Given the description of an element on the screen output the (x, y) to click on. 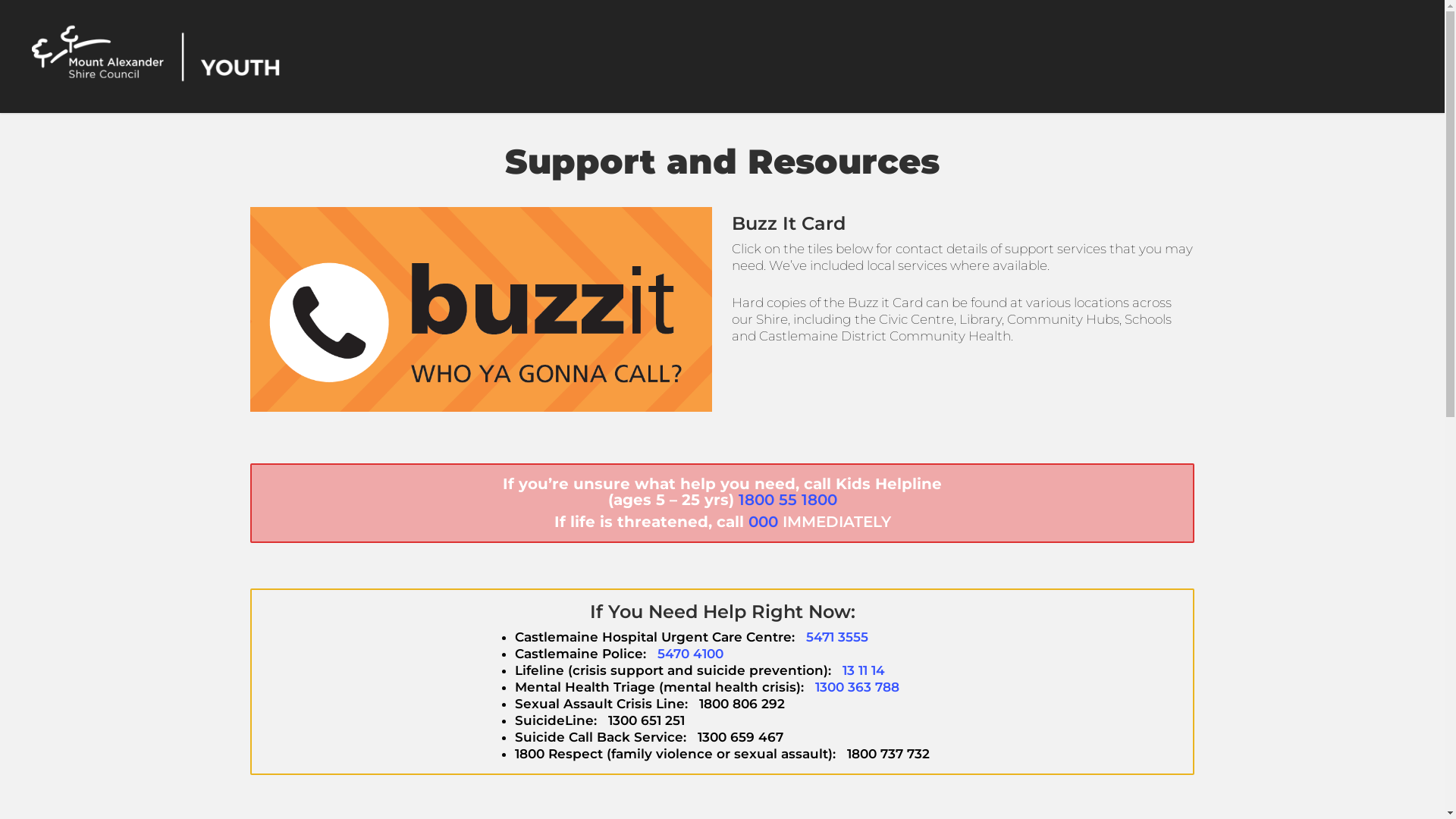
13 11 14 Element type: text (863, 669)
5470 4100 Element type: text (690, 653)
1800 55 1800 Element type: text (787, 499)
5471 3555 Element type: text (837, 636)
1300 363 788 Element type: text (857, 686)
000 Element type: text (762, 521)
